Given the description of an element on the screen output the (x, y) to click on. 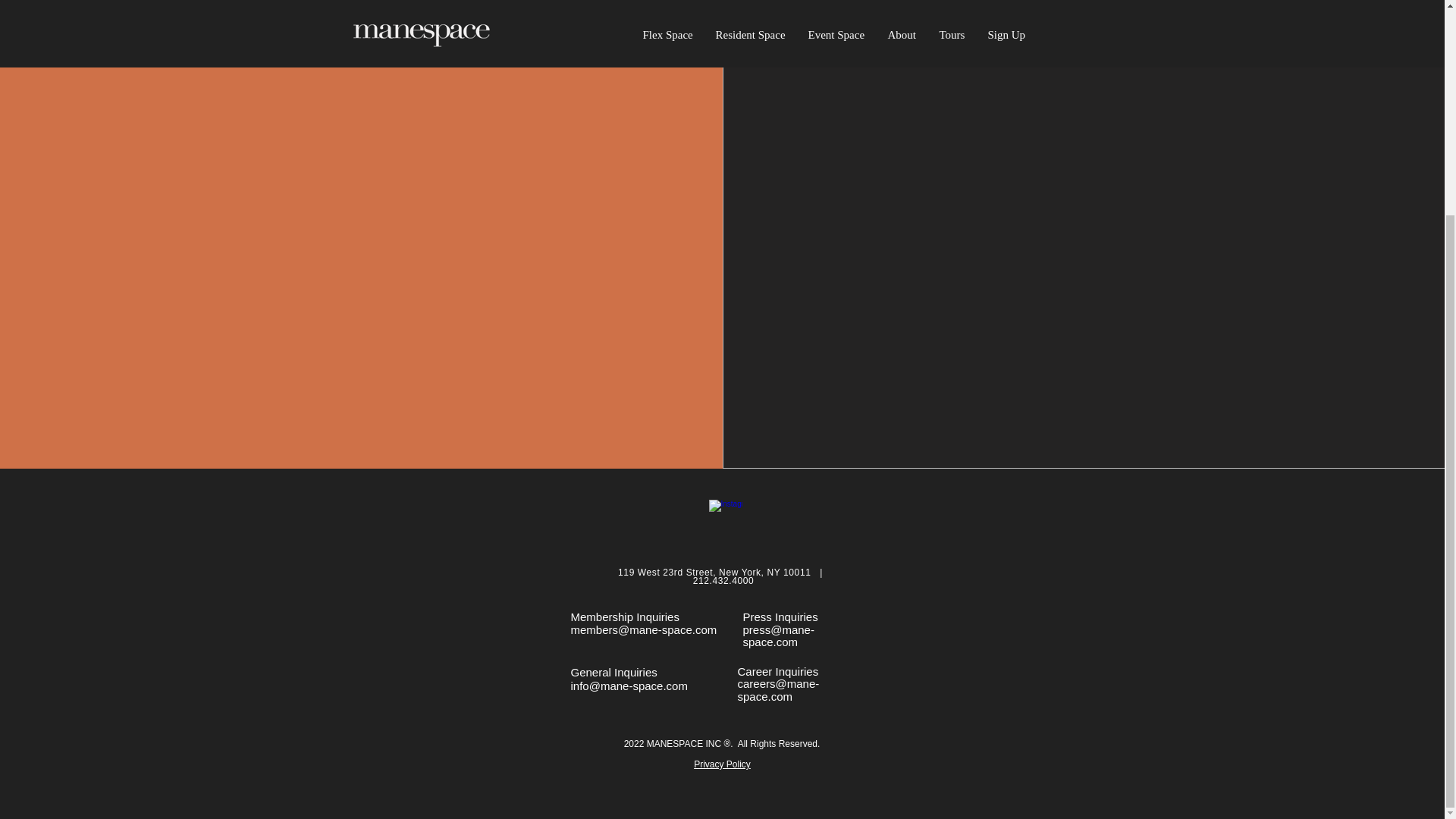
Privacy Policy (722, 764)
Membership Inquiries (624, 616)
212.432.4000 (723, 580)
